Given the description of an element on the screen output the (x, y) to click on. 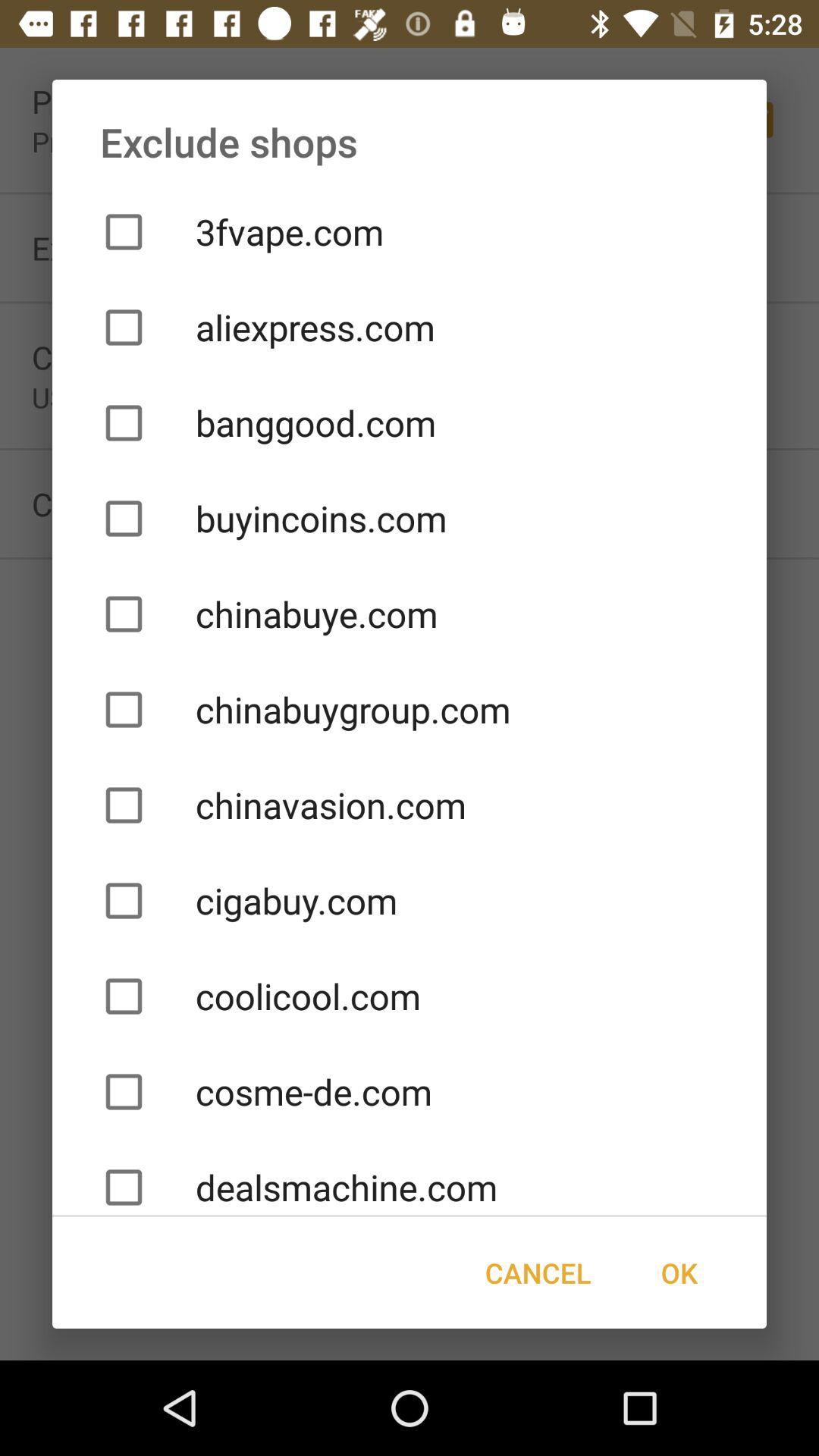
turn off item next to cancel (678, 1272)
